Given the description of an element on the screen output the (x, y) to click on. 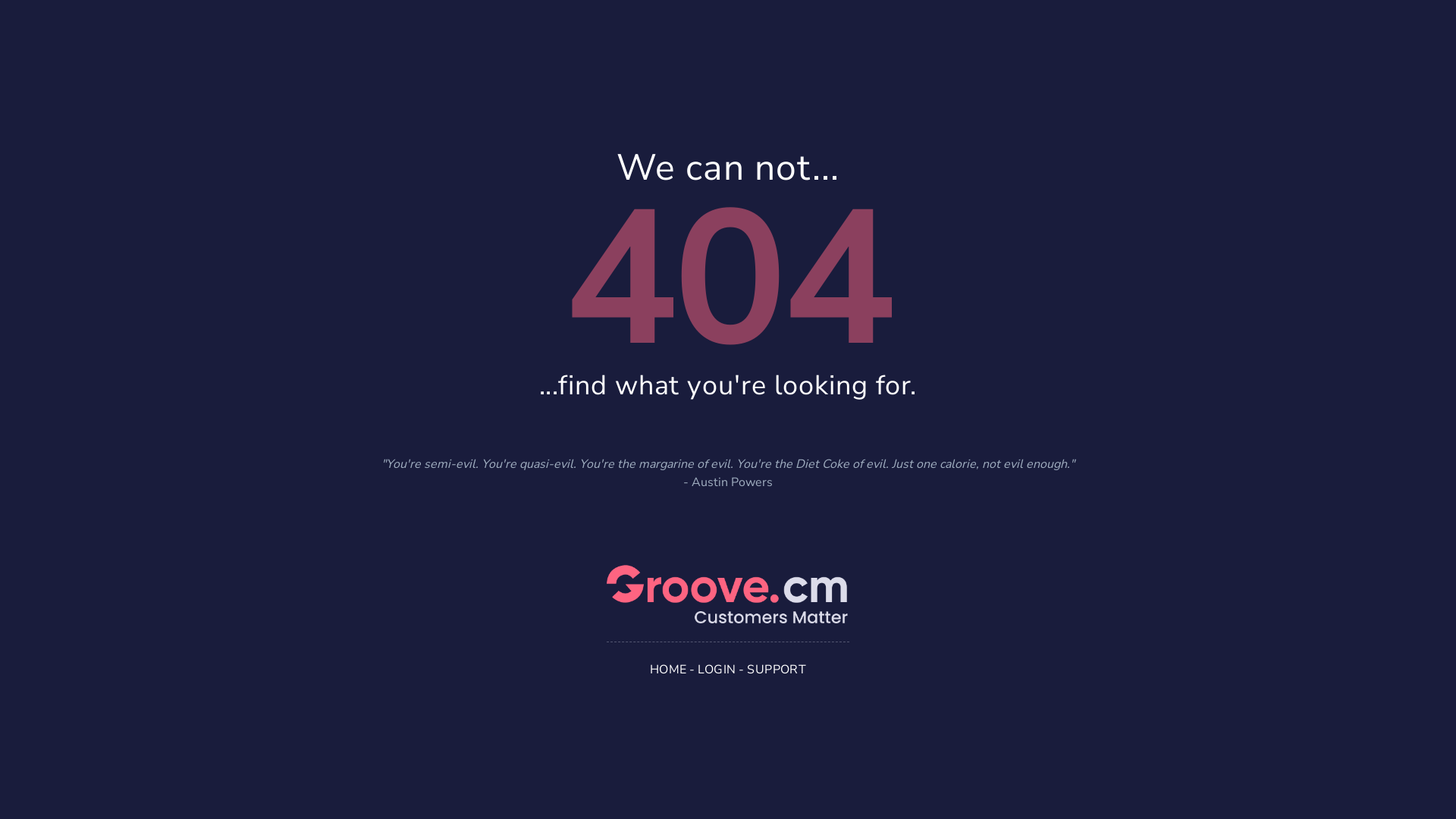
SUPPORT Element type: text (776, 669)
HOME Element type: text (668, 669)
LOGIN Element type: text (716, 669)
